Given the description of an element on the screen output the (x, y) to click on. 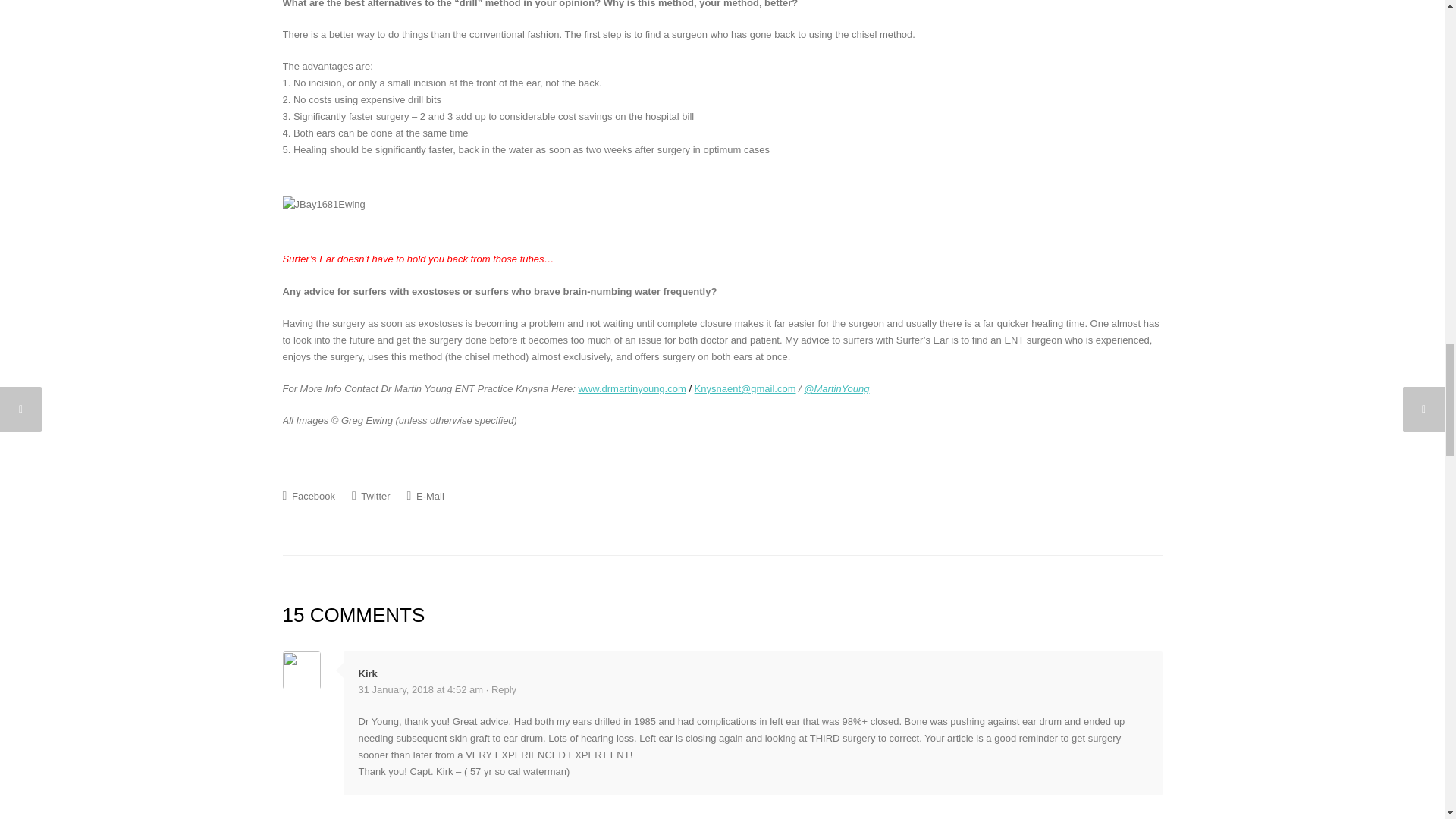
Share via Twitter (371, 495)
Share via Facebook (308, 495)
Reply (504, 689)
Twitter (371, 495)
Facebook (308, 495)
E-Mail (425, 495)
Share via E-Mail (425, 495)
www.drmartinyoung.com (631, 388)
